Given the description of an element on the screen output the (x, y) to click on. 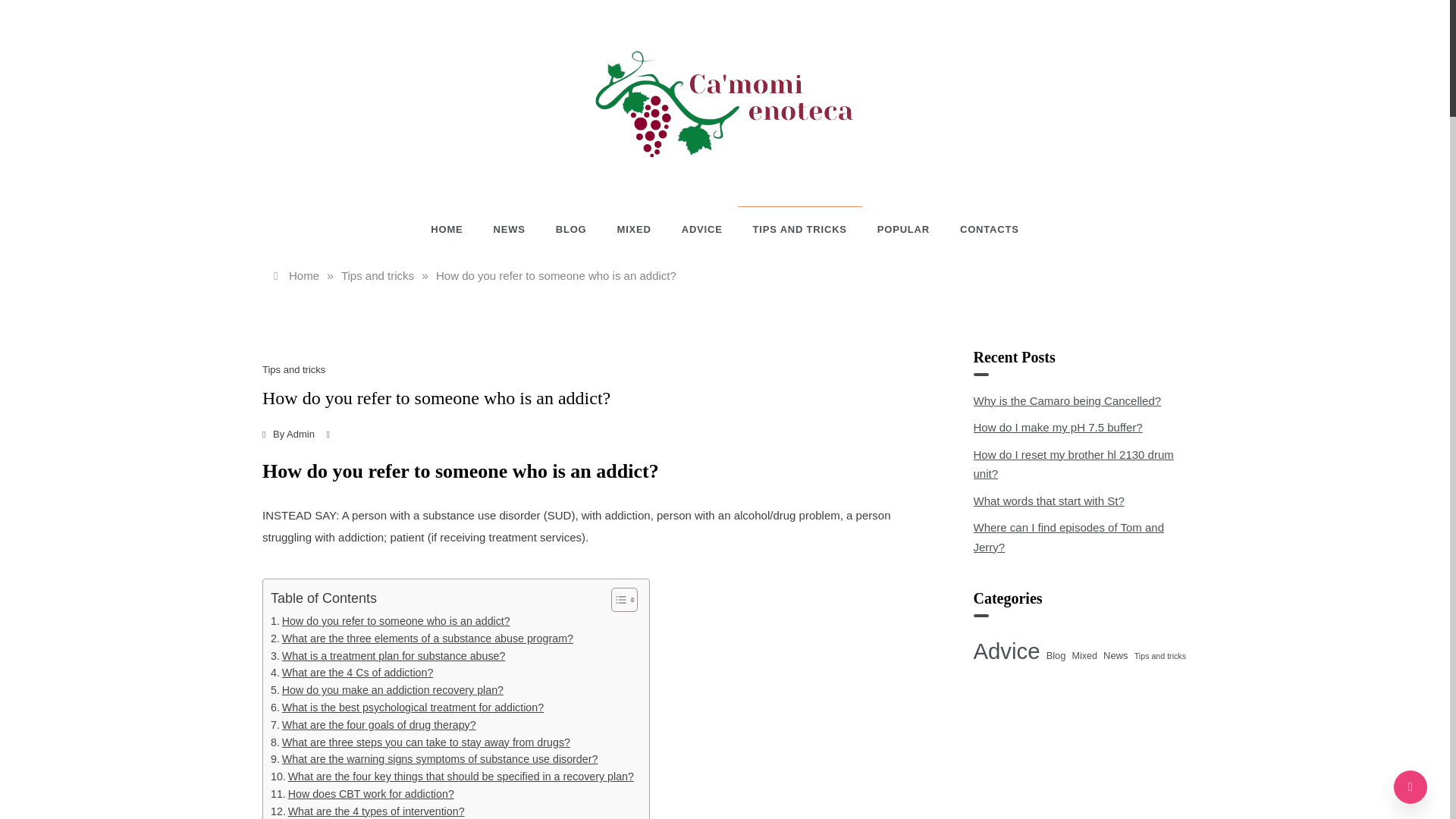
What are three steps you can take to stay away from drugs? (420, 742)
NEWS (509, 229)
What is the best psychological treatment for addiction? (406, 707)
Tips and tricks (376, 275)
How do you refer to someone who is an addict? (390, 620)
What is a treatment plan for substance abuse? (387, 656)
CONTACTS (981, 229)
BLOG (571, 229)
MIXED (634, 229)
